Given the description of an element on the screen output the (x, y) to click on. 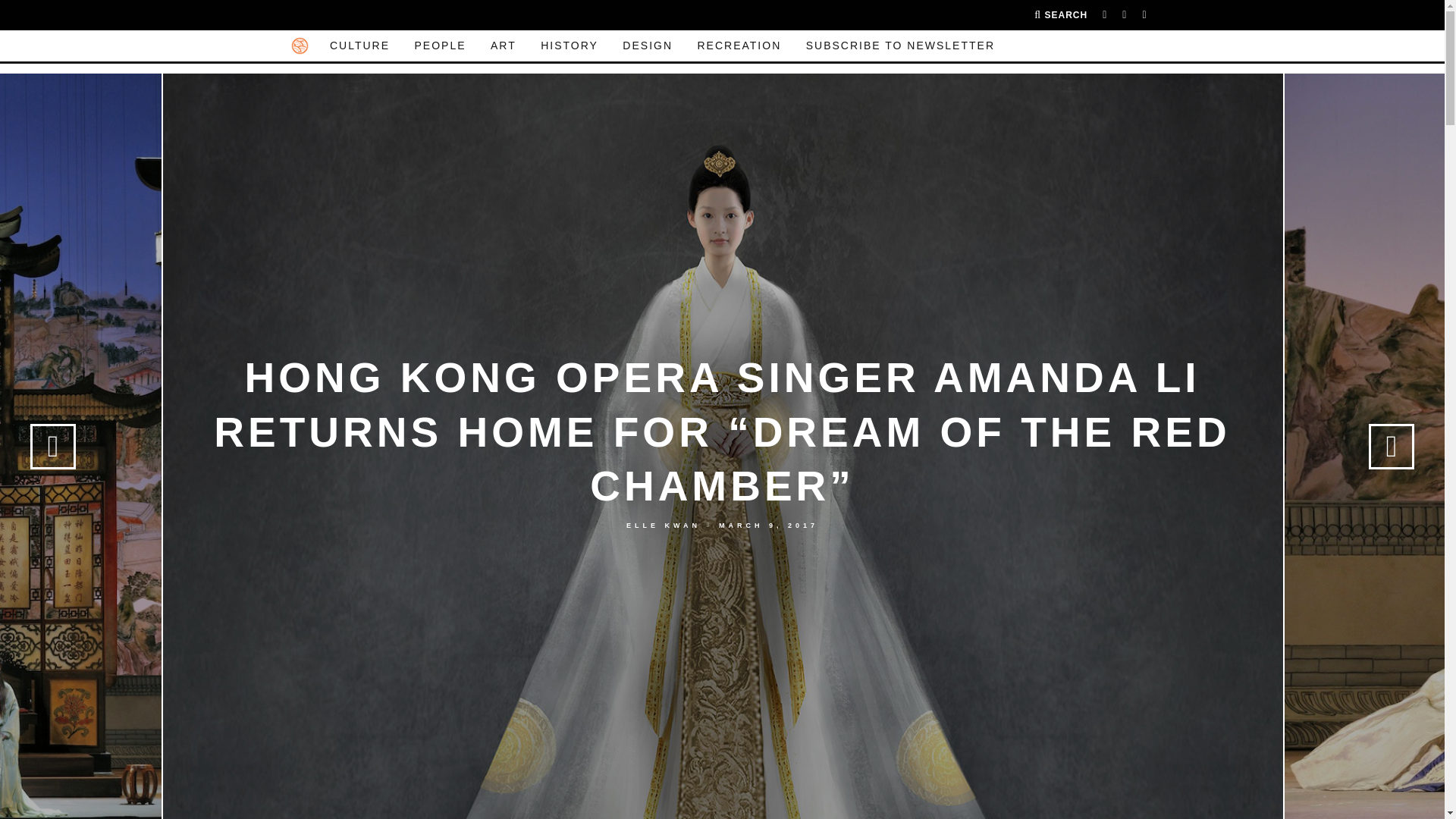
SEARCH (1060, 15)
Search (1060, 15)
